Given the description of an element on the screen output the (x, y) to click on. 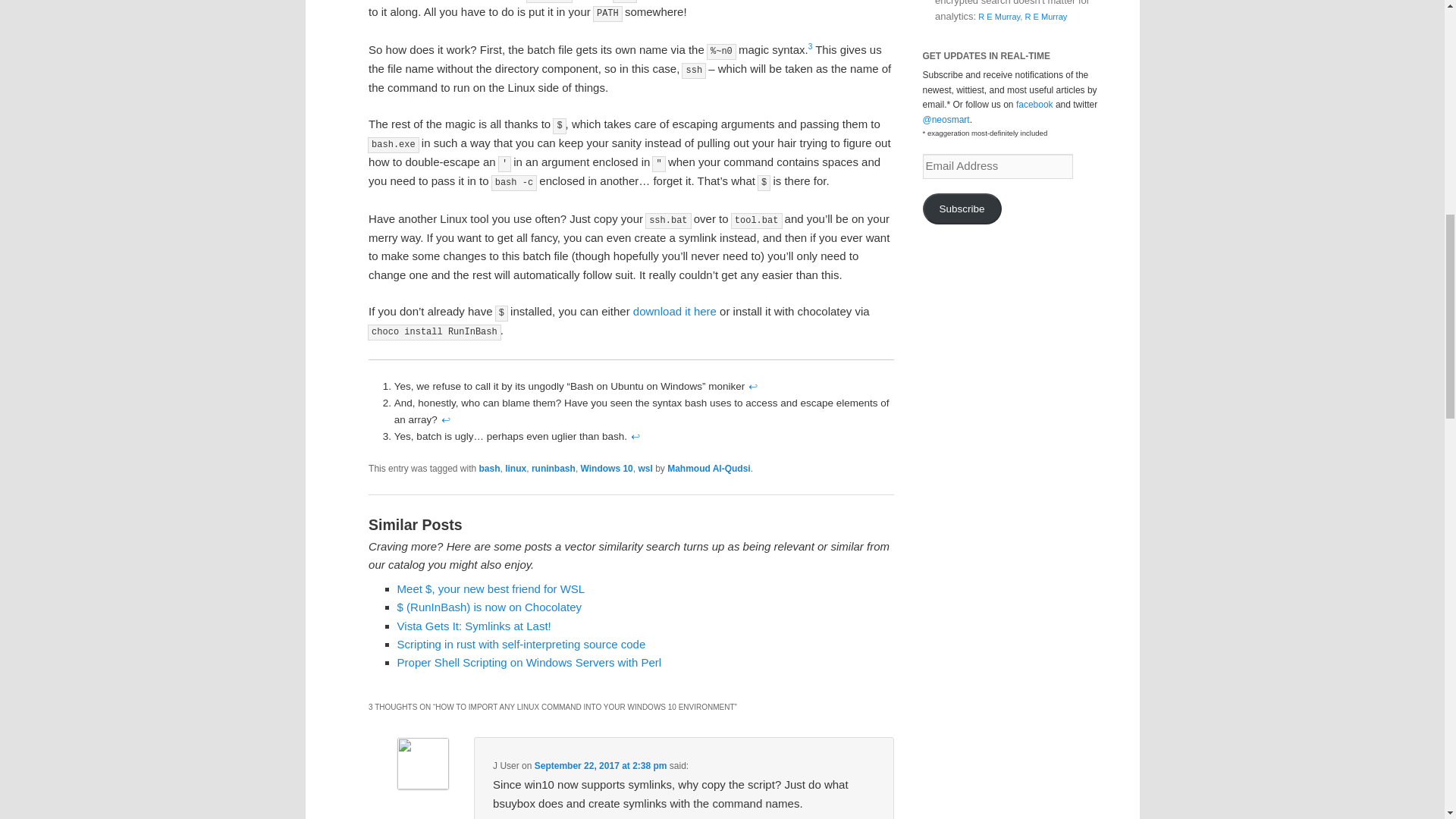
bash (489, 468)
linux (515, 468)
Proper Shell Scripting on Windows Servers with Perl (529, 662)
Jump back to footnote 1 in the text. (753, 386)
Vista Gets It: Symlinks at Last! (474, 625)
Scripting in rust with self-interpreting source code (521, 644)
Jump back to footnote 2 in the text. (446, 419)
Jump back to footnote 3 in the text. (635, 436)
Mahmoud Al-Qudsi (708, 468)
runinbash (553, 468)
download it here (674, 310)
Windows 10 (606, 468)
wsl (644, 468)
September 22, 2017 at 2:38 pm (600, 765)
